Given the description of an element on the screen output the (x, y) to click on. 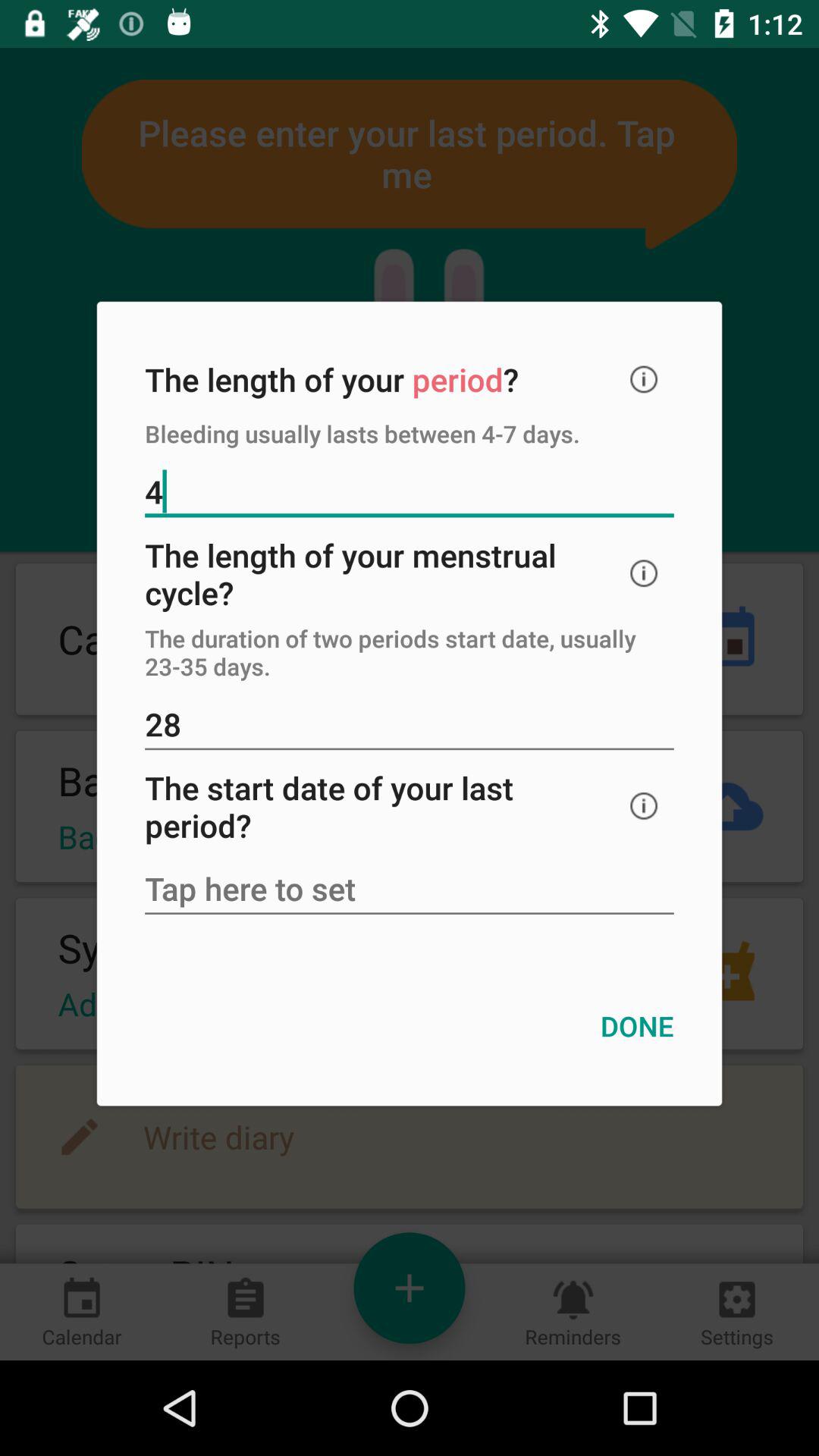
more information icon (643, 379)
